Given the description of an element on the screen output the (x, y) to click on. 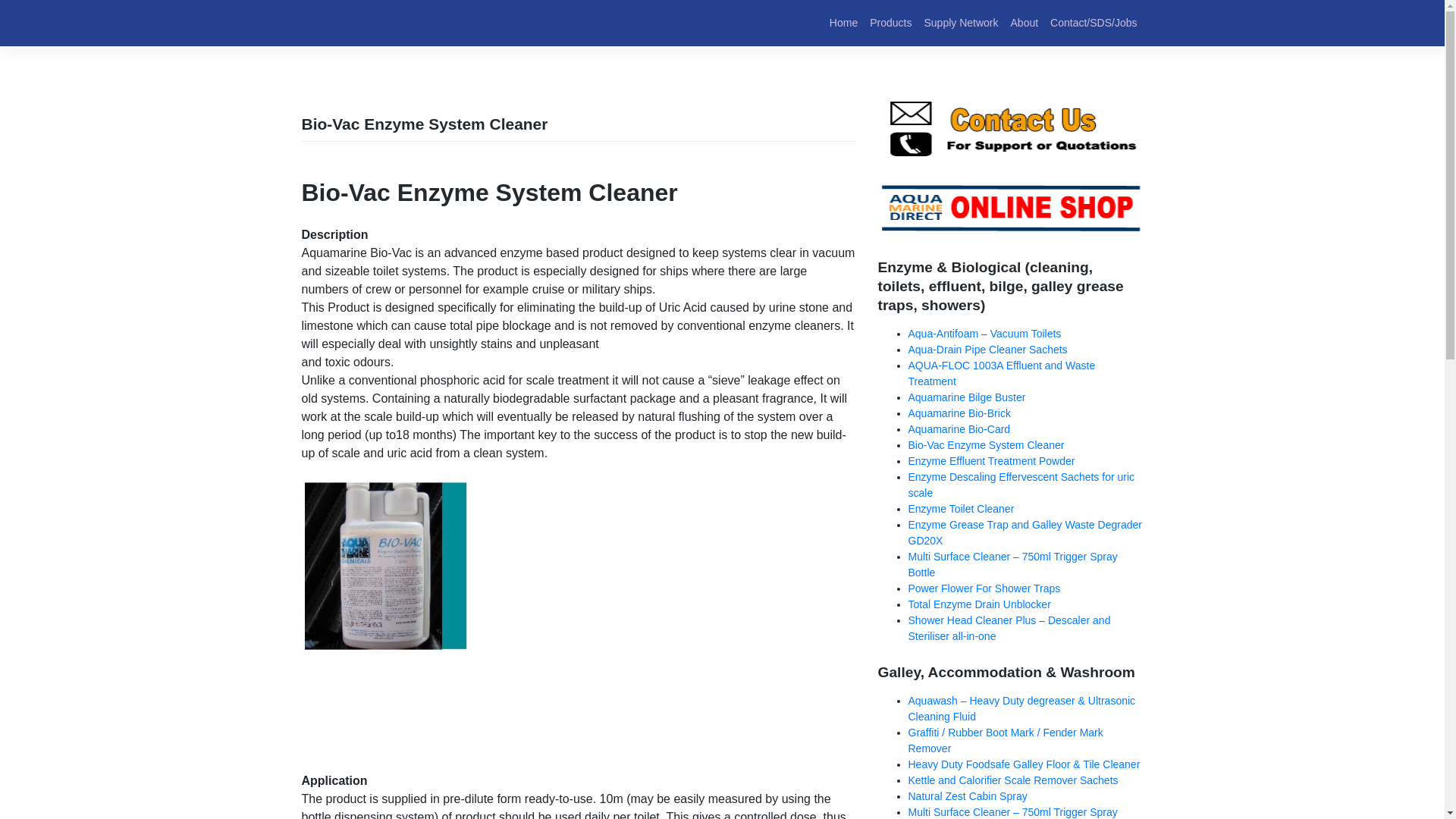
Aqua-Drain Pipe Cleaner Sachets (987, 349)
Aquamarine Bio-Card (959, 428)
Power Flower For Shower Traps (984, 588)
Home (843, 22)
Enzyme Grease Trap and Galley Waste Degrader GD20X (1024, 532)
Bio-Vac Enzyme System Cleaner (986, 444)
Products (890, 22)
Aquamarine Chemicals (375, 32)
Aquamarine Bilge Buster (967, 397)
Kettle and Calorifier Scale Remover Sachets (1013, 779)
